Given the description of an element on the screen output the (x, y) to click on. 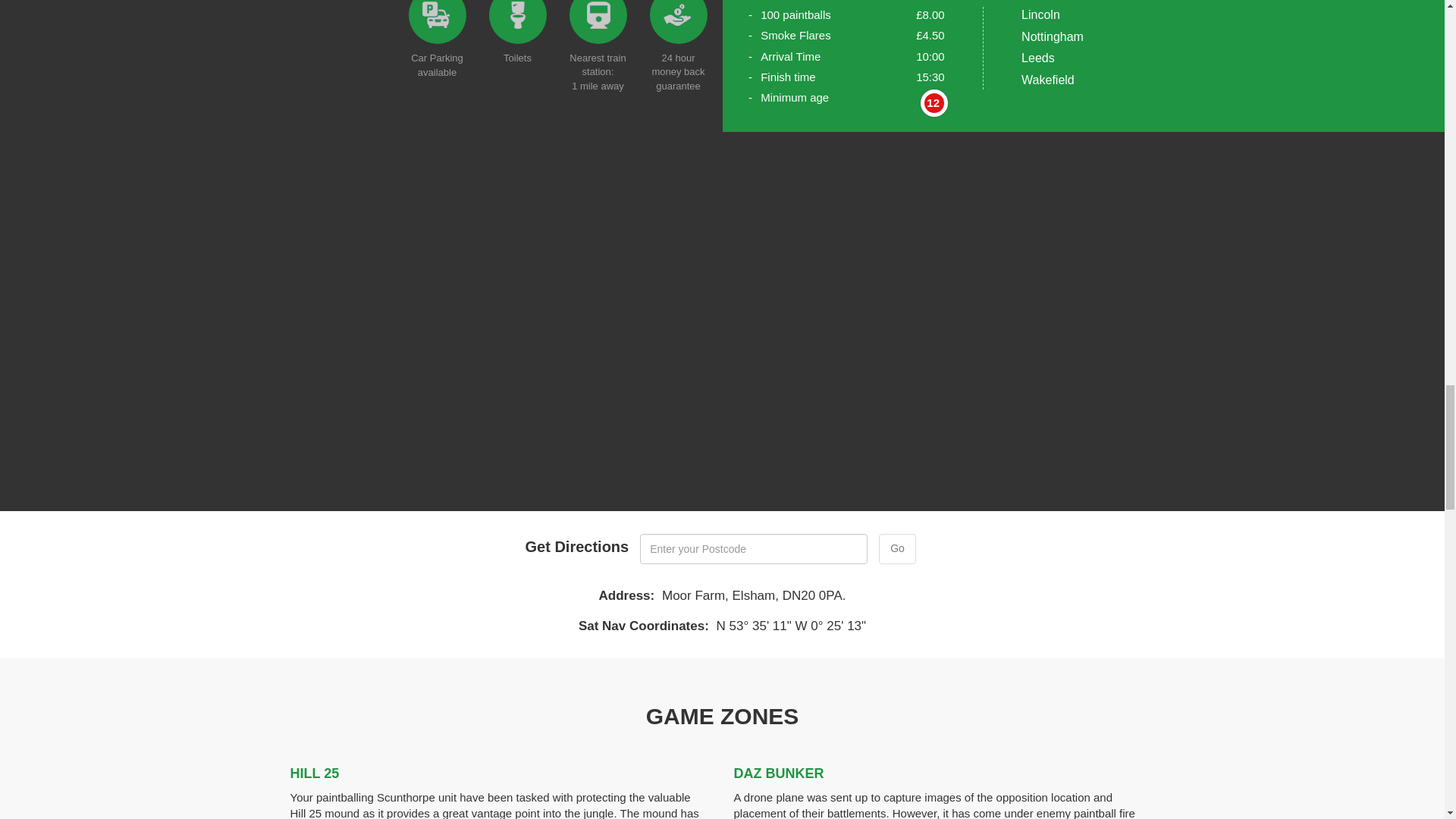
Leeds (1038, 57)
Nottingham (1052, 36)
Go (897, 548)
Wakefield (1048, 79)
Lincoln (1040, 14)
